Given the description of an element on the screen output the (x, y) to click on. 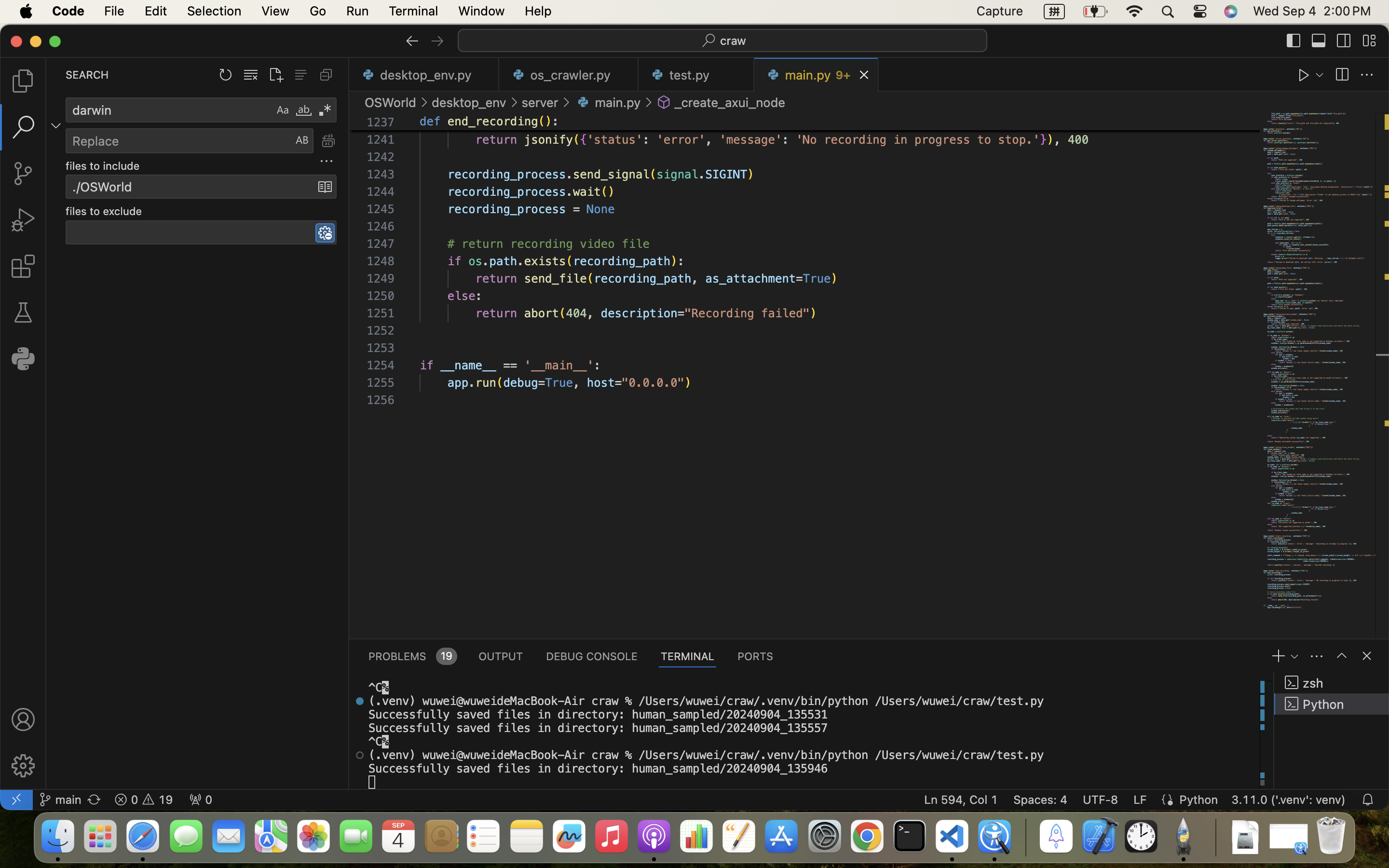
 Element type: AXCheckBox (1344, 40)
1 TERMINAL Element type: AXRadioButton (687, 655)
1237 Element type: AXStaticText (380, 122)
 Element type: AXCheckBox (1318, 40)
 Element type: AXStaticText (648, 101)
